Given the description of an element on the screen output the (x, y) to click on. 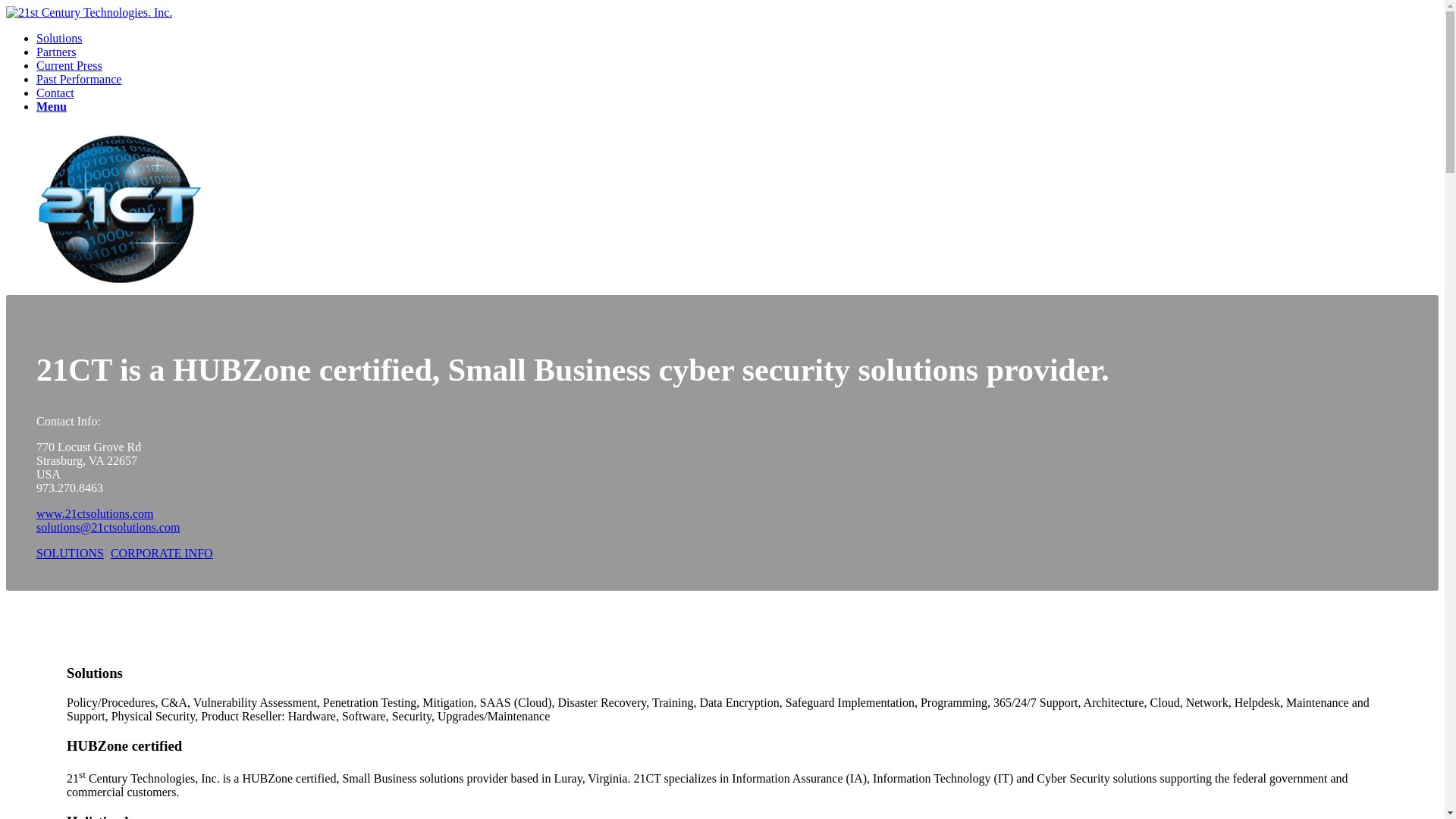
Menu Element type: text (51, 106)
Past Performance Element type: text (78, 78)
www.21ctsolutions.com Element type: text (94, 513)
Partners Element type: text (55, 51)
SOLUTIONS Element type: text (69, 552)
CORPORATE INFO Element type: text (161, 552)
Contact Element type: text (55, 92)
Solutions Element type: text (58, 37)
logo-21-ct Element type: hover (119, 208)
solutions@21ctsolutions.com Element type: text (107, 526)
Current Press Element type: text (69, 65)
